Given the description of an element on the screen output the (x, y) to click on. 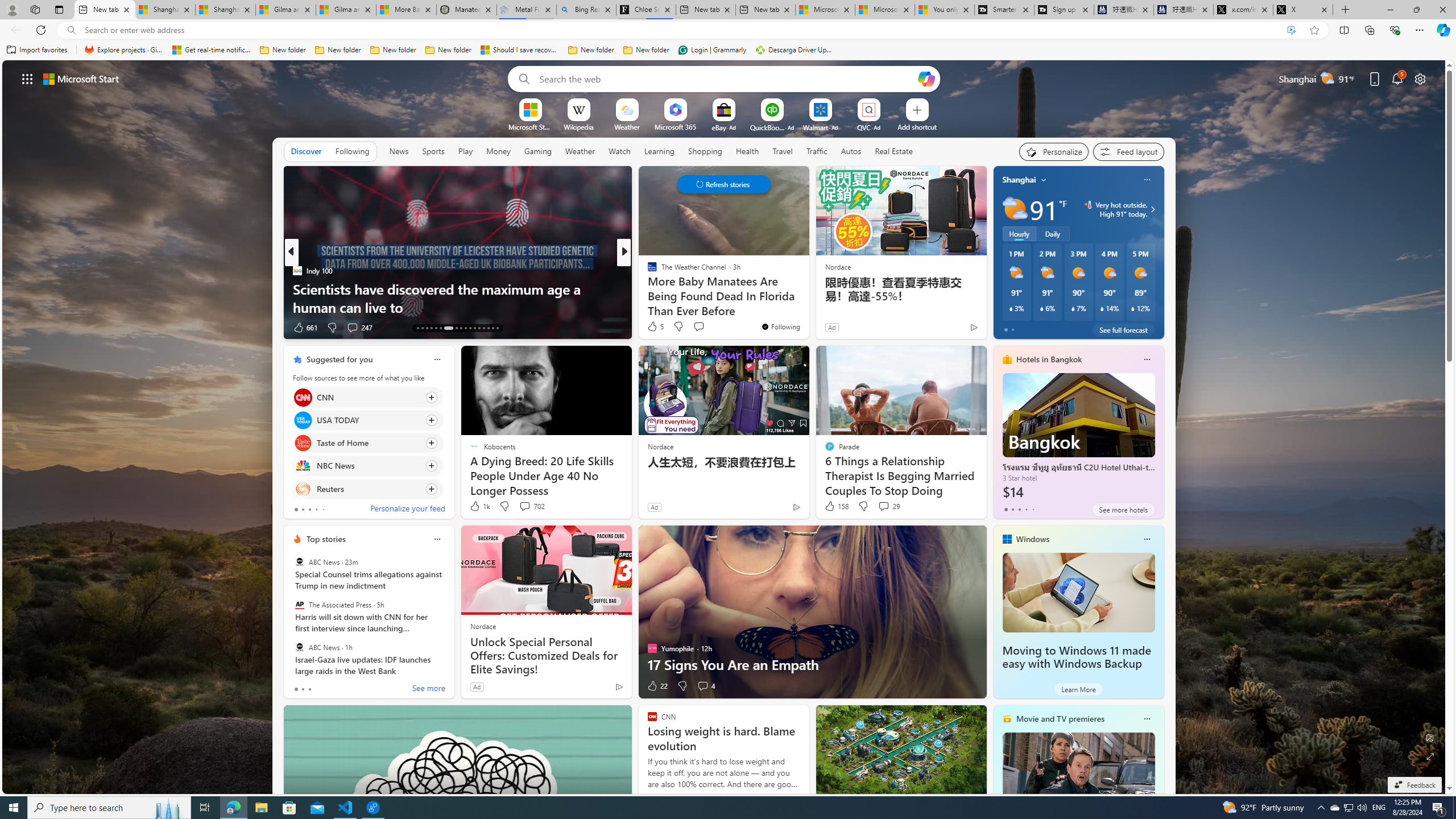
Hide this story (597, 359)
22 Like (657, 685)
5 Like (655, 326)
New folder (646, 49)
Shopping (705, 151)
Login | Grammarly (712, 49)
CNBC (647, 270)
Health (746, 151)
Movie and TV premieres (1060, 718)
Money (498, 151)
